Given the description of an element on the screen output the (x, y) to click on. 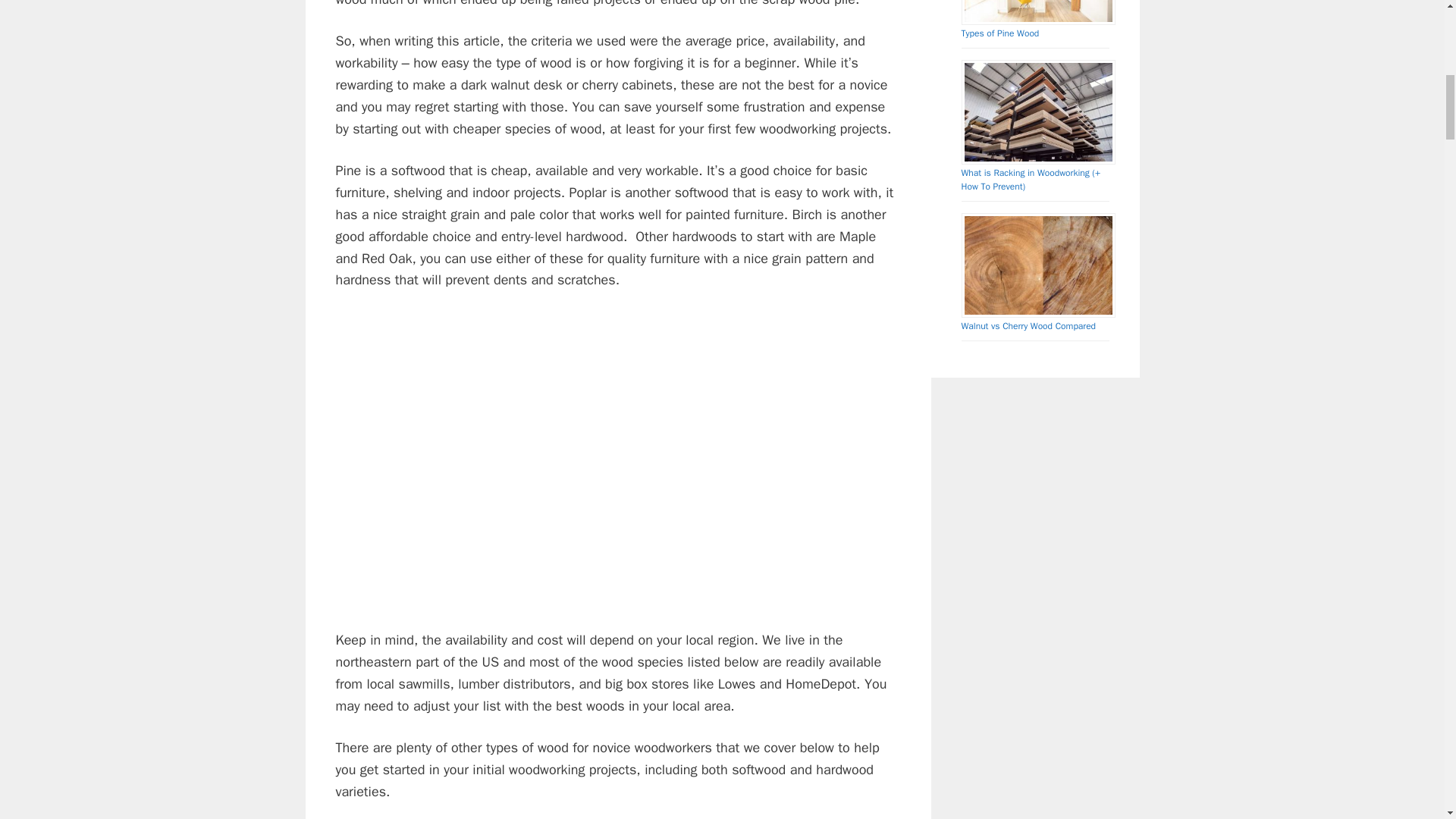
Walnut vs Cherry Wood Compared (1028, 326)
Types of Pine Wood (999, 33)
